Given the description of an element on the screen output the (x, y) to click on. 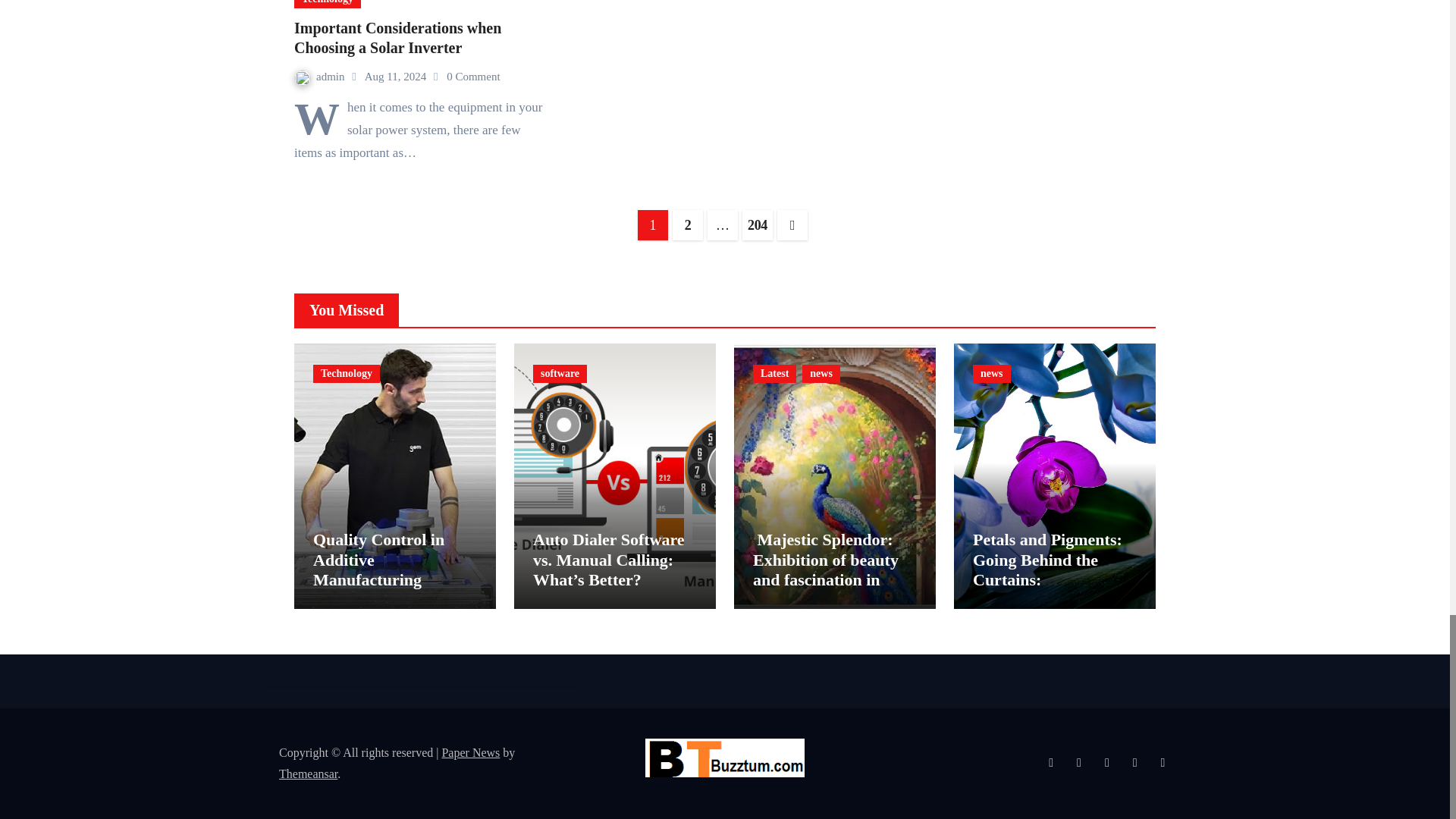
Permalink to: Quality Control in Additive Manufacturing (378, 558)
